Given the description of an element on the screen output the (x, y) to click on. 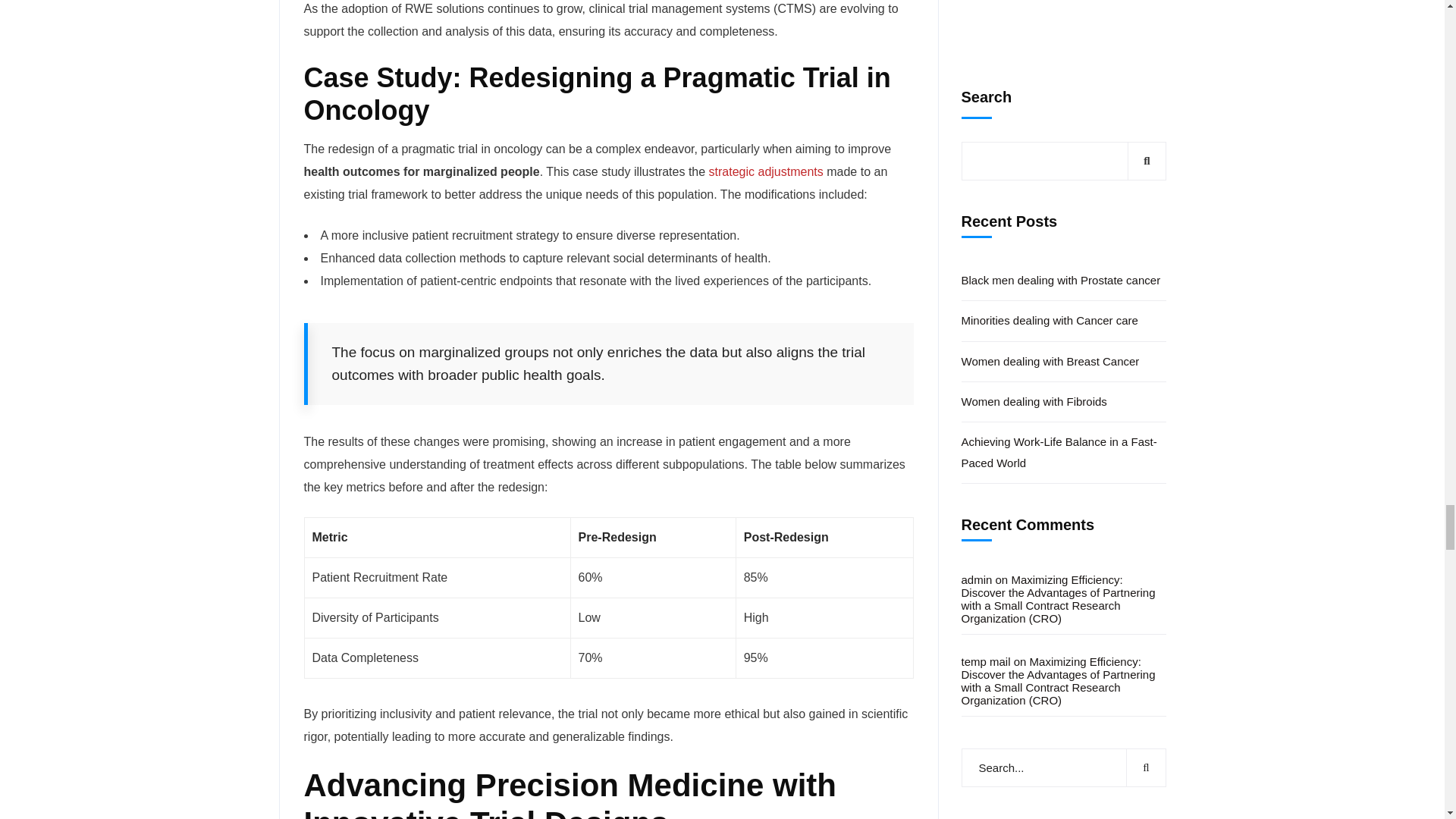
strategic adjustments (766, 171)
